Given the description of an element on the screen output the (x, y) to click on. 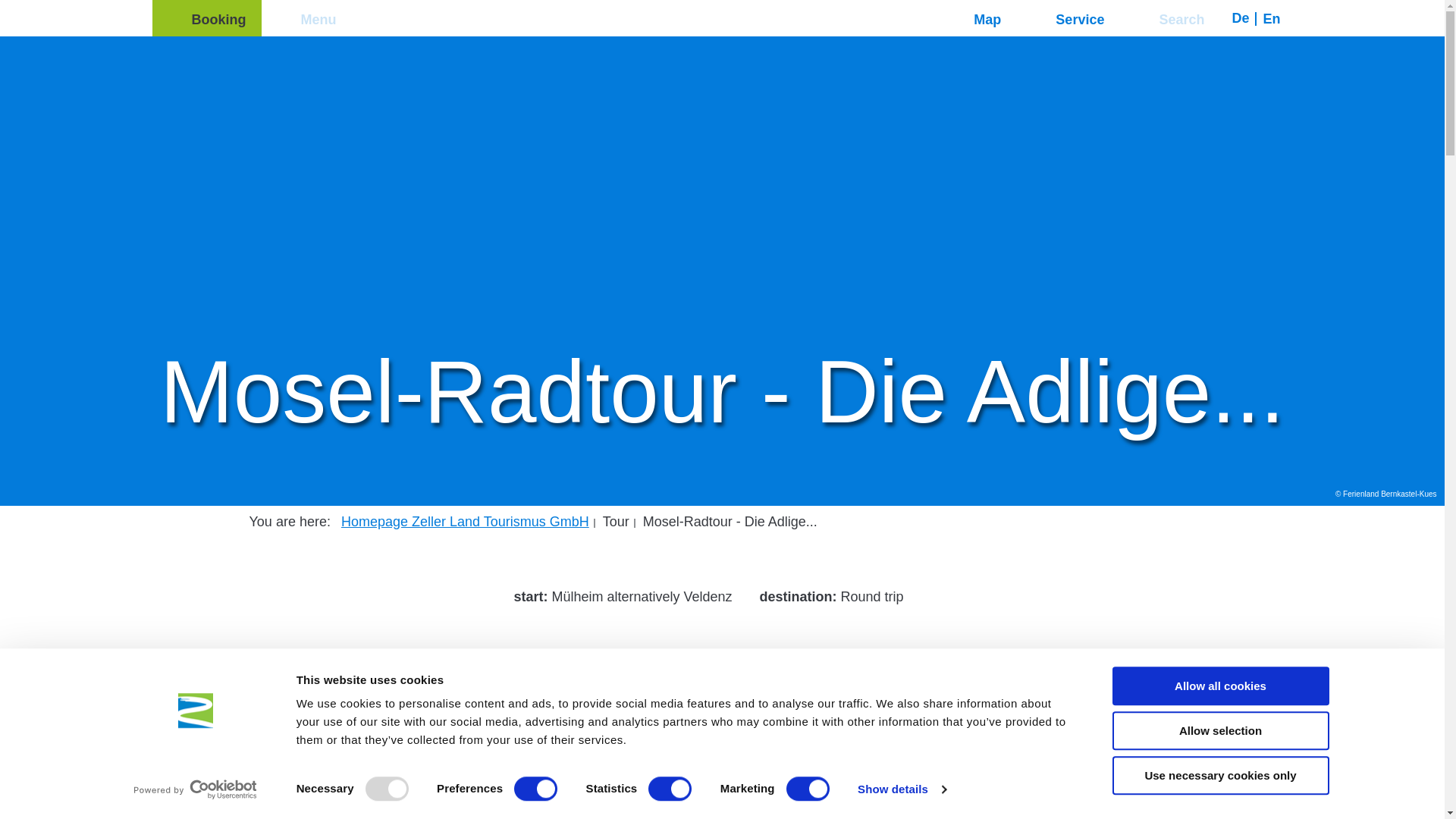
Homepage Zeller Land Tourismus GmbH (464, 521)
Menu (305, 18)
Search (1169, 18)
Show details (900, 789)
Allow all cookies (1219, 685)
Use necessary cookies only (1219, 774)
Map (975, 18)
Booking (205, 18)
Booking (205, 18)
Allow selection (1219, 730)
Service (1067, 18)
